Given the description of an element on the screen output the (x, y) to click on. 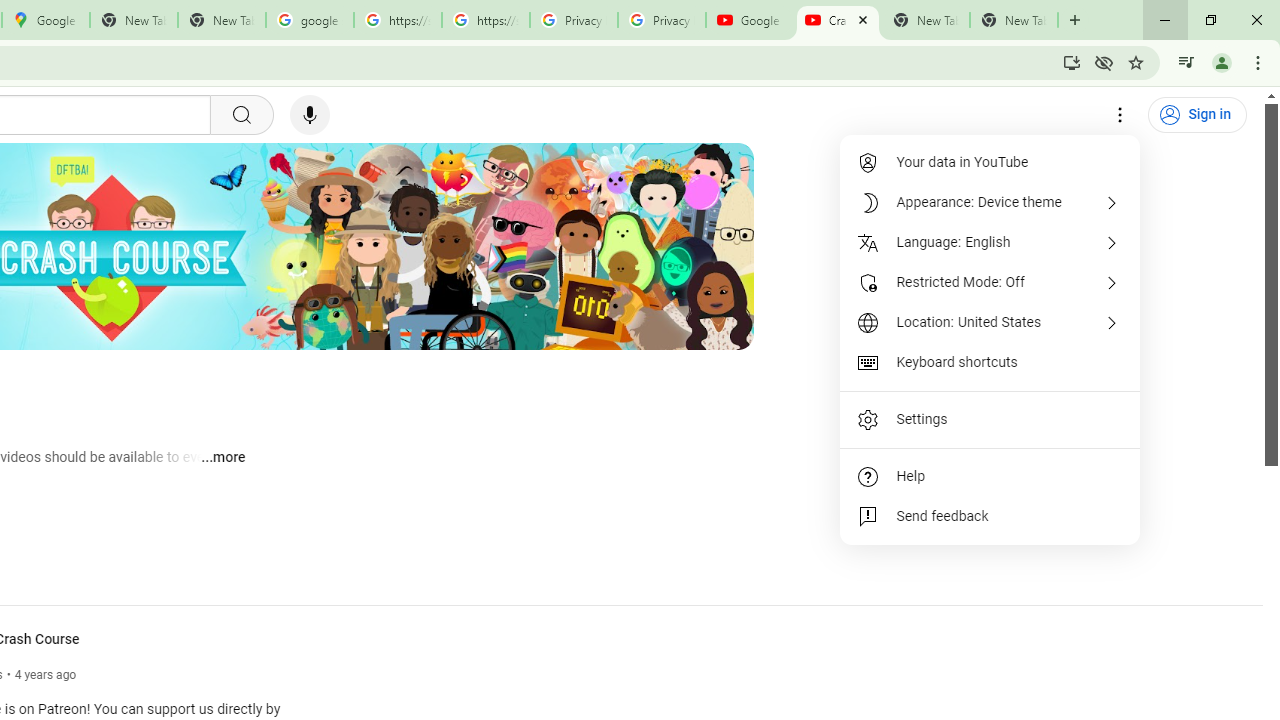
Language: English (989, 242)
